Given the description of an element on the screen output the (x, y) to click on. 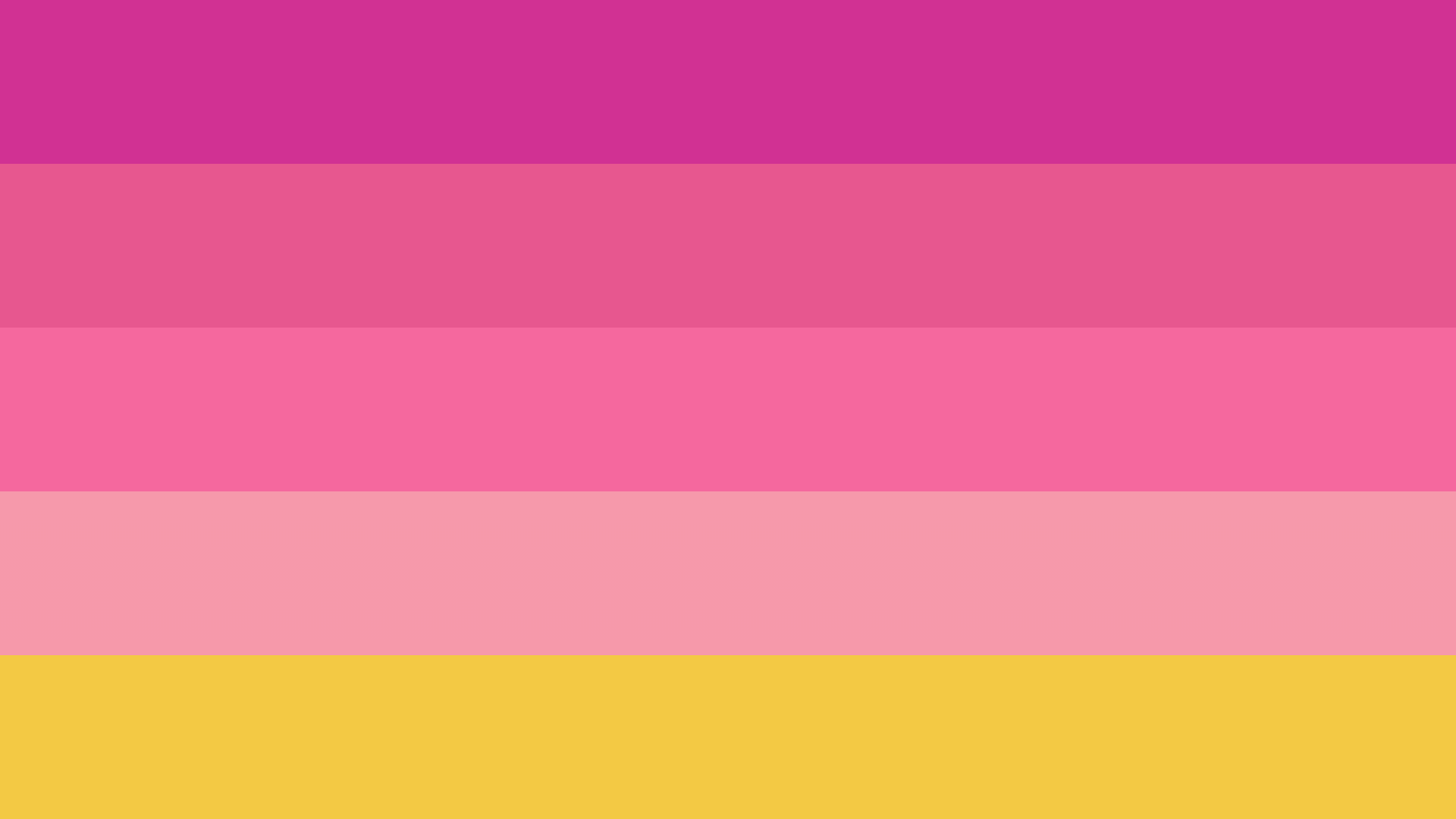
My Account (1201, 40)
Shop (1098, 41)
Instructions (247, 40)
Search Toggle (362, 40)
Account (452, 41)
